Given the description of an element on the screen output the (x, y) to click on. 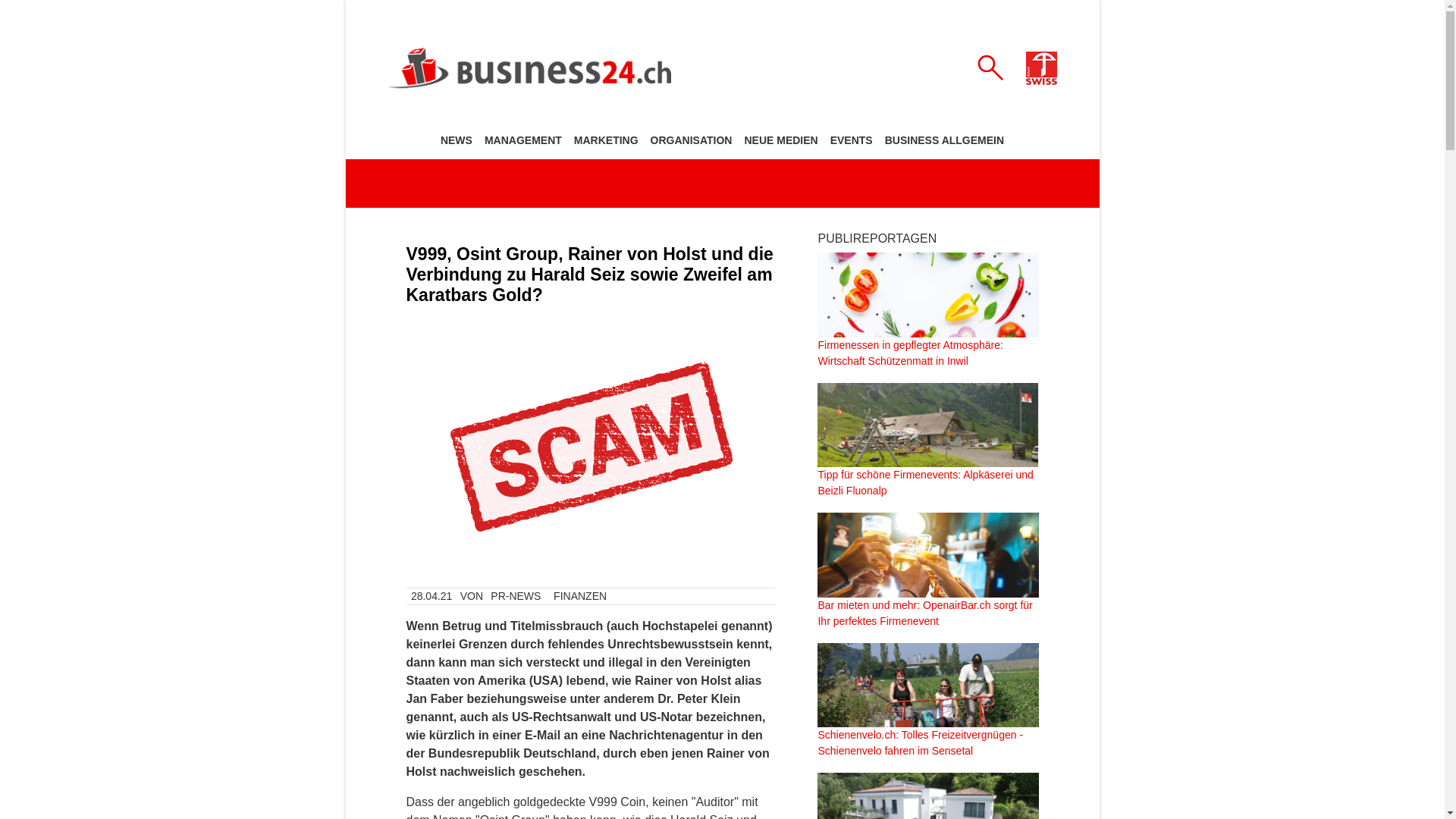
ORGANISATION Element type: text (691, 140)
MANAGEMENT Element type: text (522, 140)
28.04.21 Element type: text (431, 595)
NEWS Element type: text (456, 140)
FINANZEN Element type: text (580, 595)
MARKETING Element type: text (605, 140)
PR-NEWS Element type: text (516, 595)
BUSINESS ALLGEMEIN Element type: text (944, 140)
EVENTS Element type: text (851, 140)
NEUE MEDIEN Element type: text (780, 140)
